Given the description of an element on the screen output the (x, y) to click on. 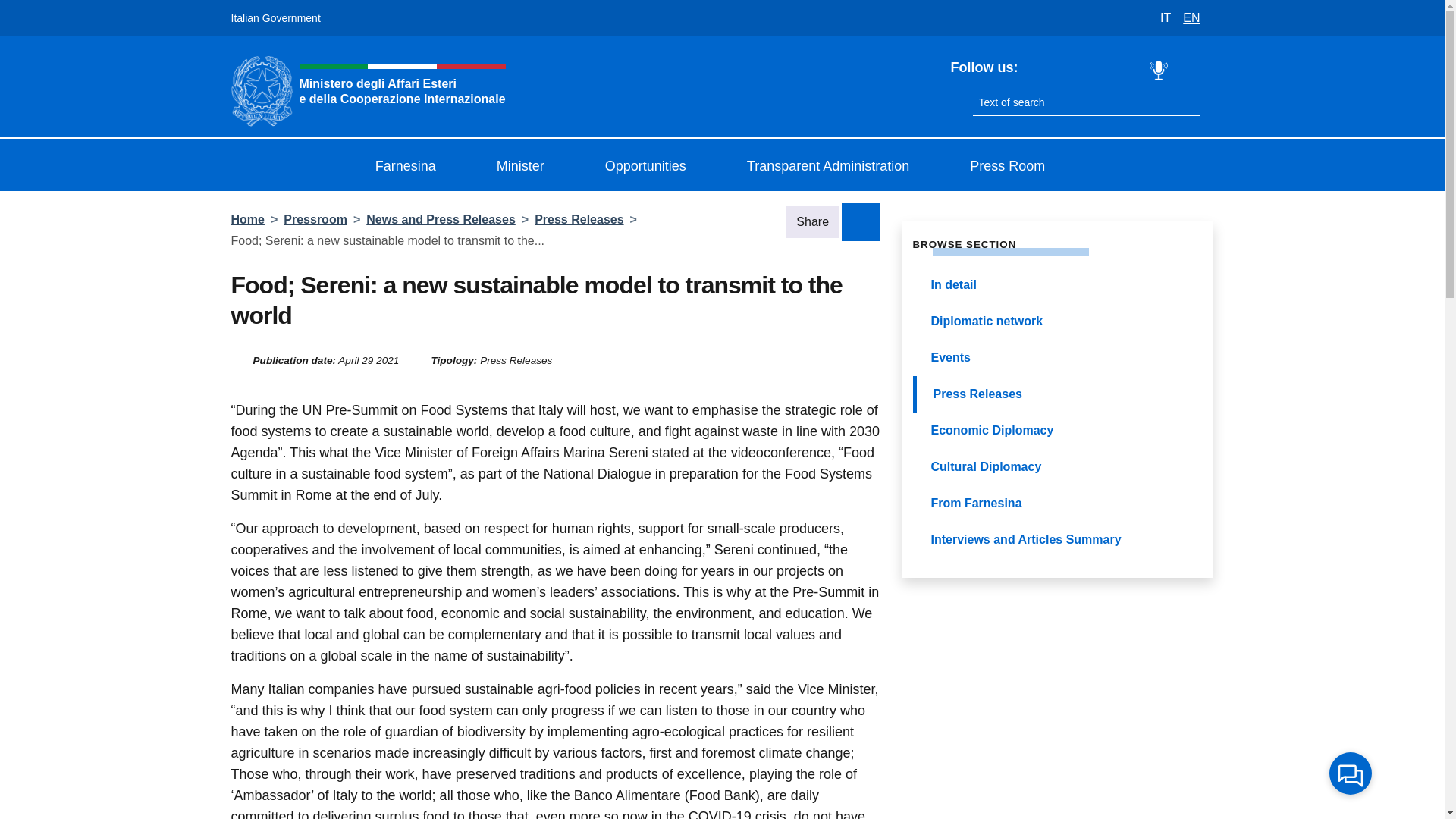
Italian Government (275, 18)
Minister (532, 166)
Opportunities (657, 166)
Events (1057, 357)
Actual page (1057, 393)
Italian Government (275, 18)
Diplomatic network (1057, 321)
Economic Diplomacy (1057, 430)
Share on Social Network (860, 220)
From Farnesina (1057, 503)
